Given the description of an element on the screen output the (x, y) to click on. 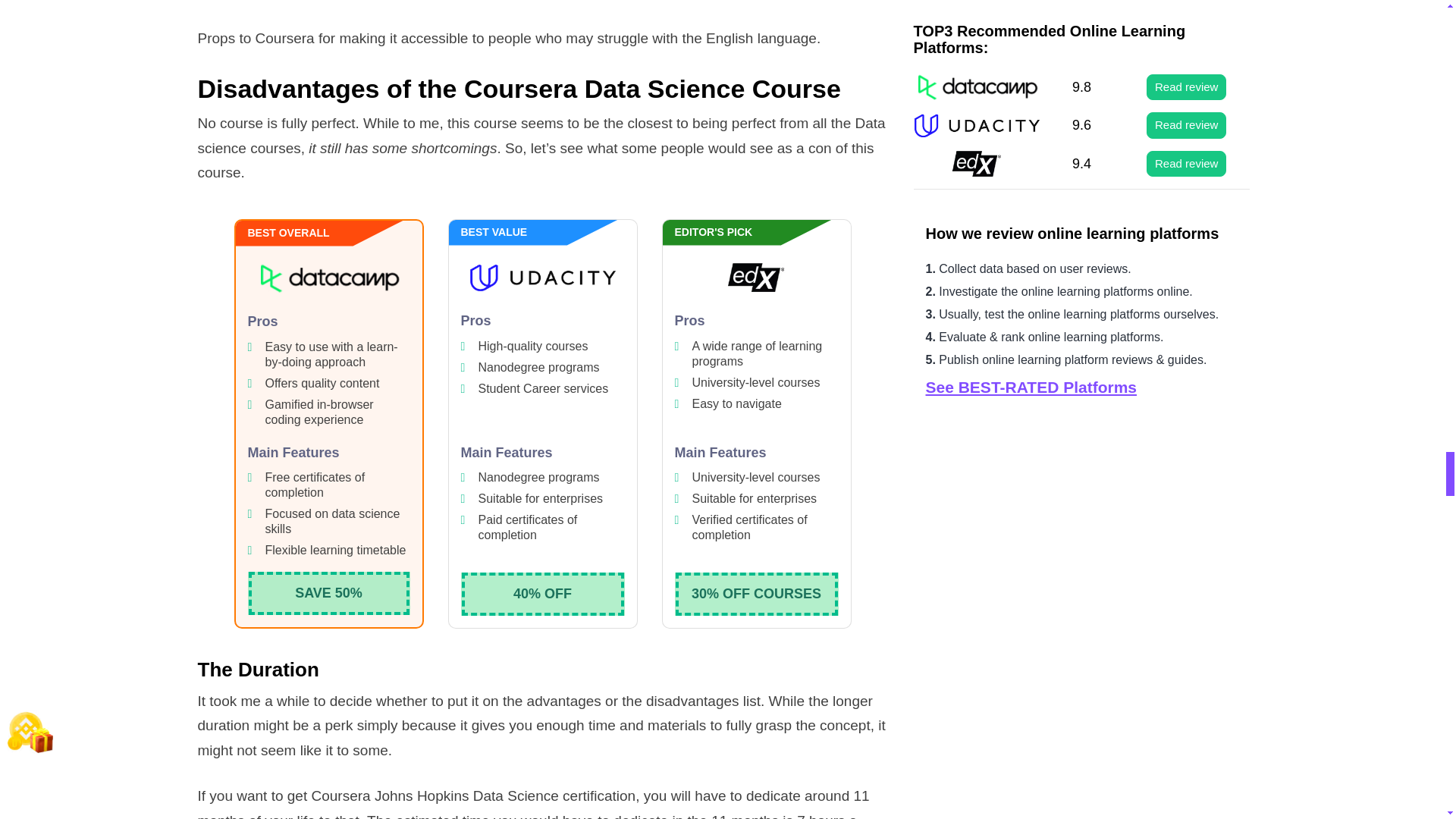
Udacity Review (542, 277)
edX Review (756, 277)
DataCamp Review (328, 277)
